Given the description of an element on the screen output the (x, y) to click on. 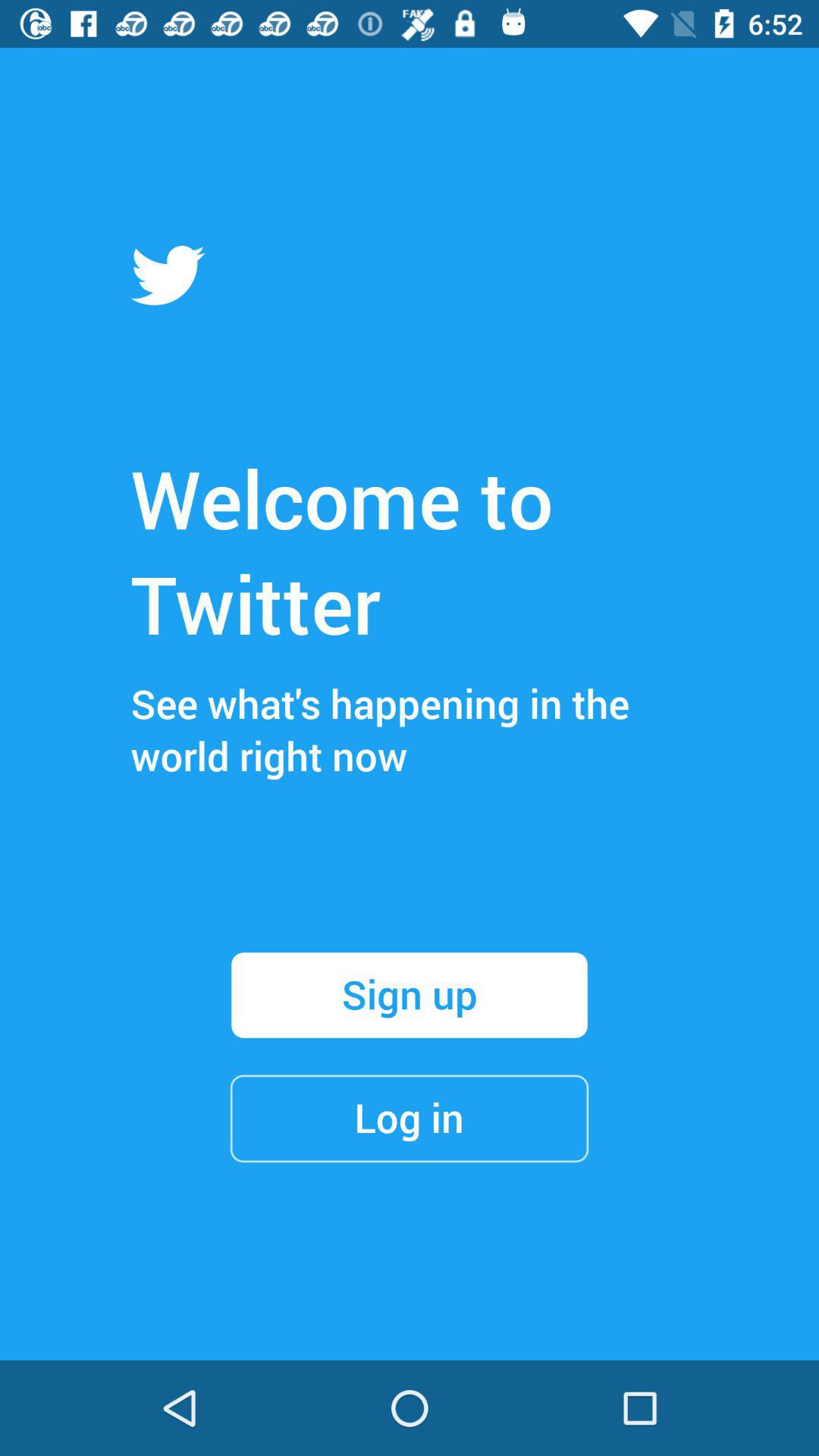
launch the item below see what s (409, 995)
